Given the description of an element on the screen output the (x, y) to click on. 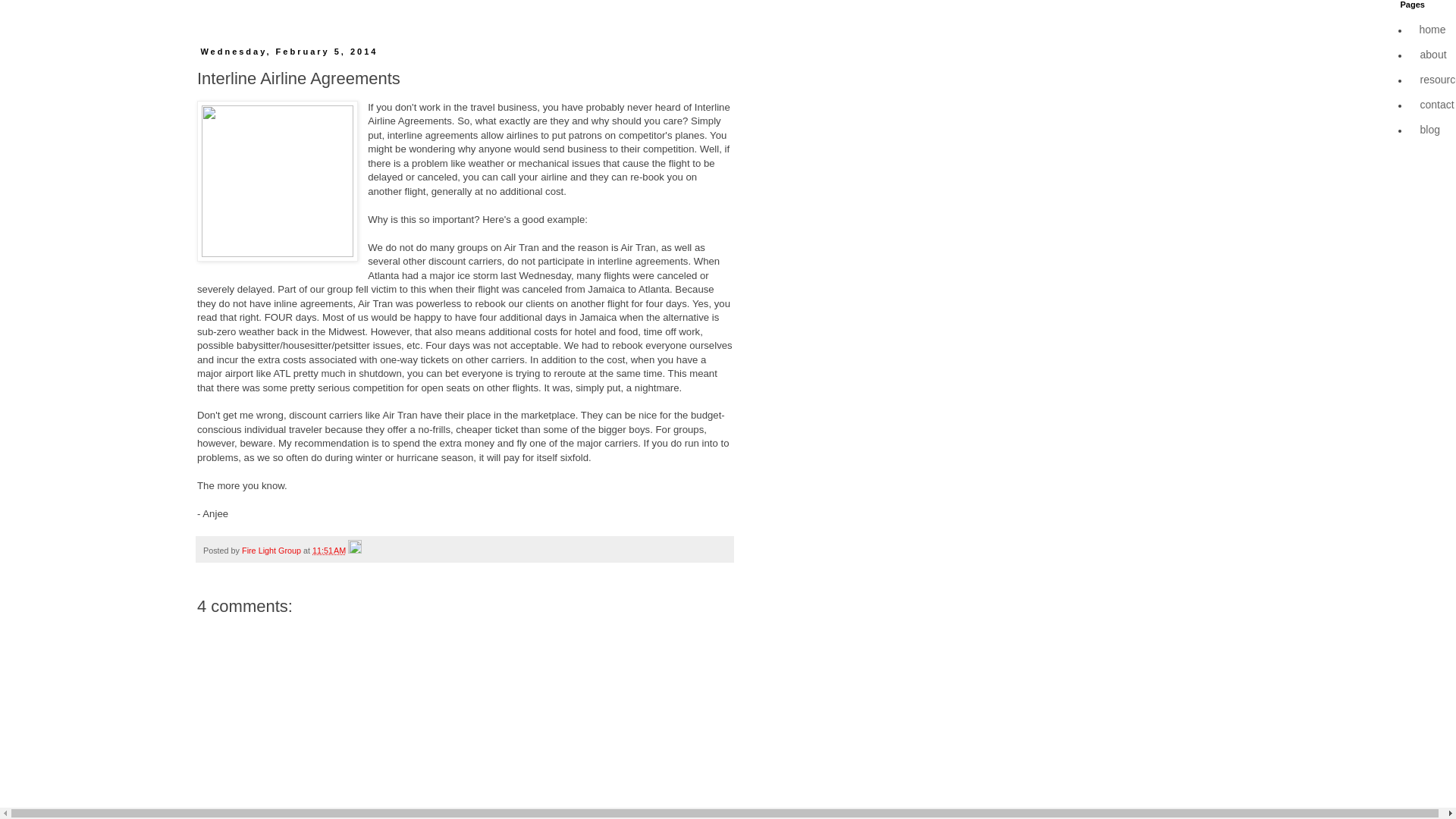
Edit Post (354, 550)
permanent link (329, 550)
author profile (271, 550)
Fire Light Group (271, 550)
